Given the description of an element on the screen output the (x, y) to click on. 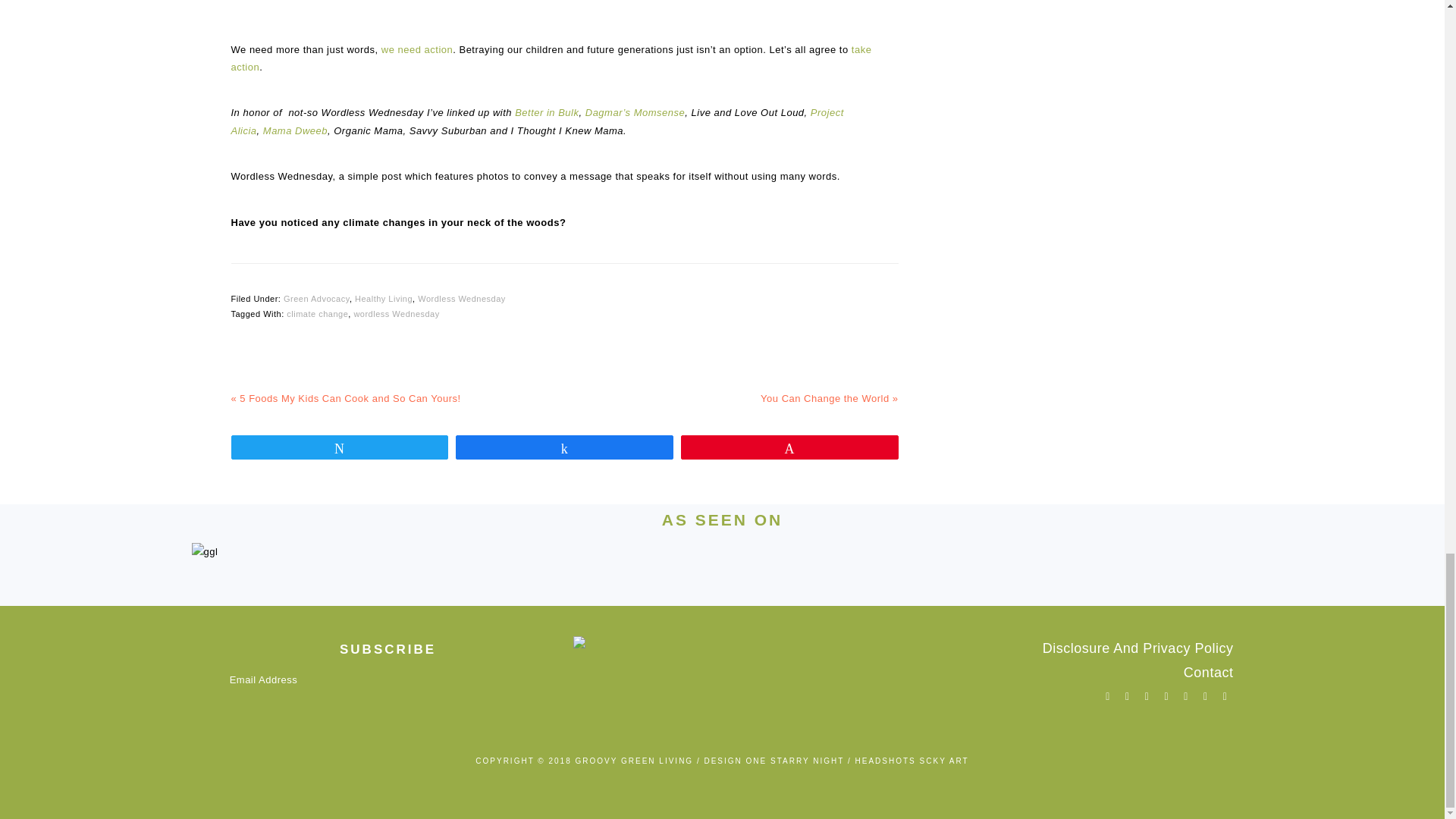
Groovy Green Livin climate change (564, 6)
Better in Bulk (546, 112)
take action (550, 58)
we need action (416, 49)
Project Alicia (536, 121)
Mama Dweeb (295, 130)
